Given the description of an element on the screen output the (x, y) to click on. 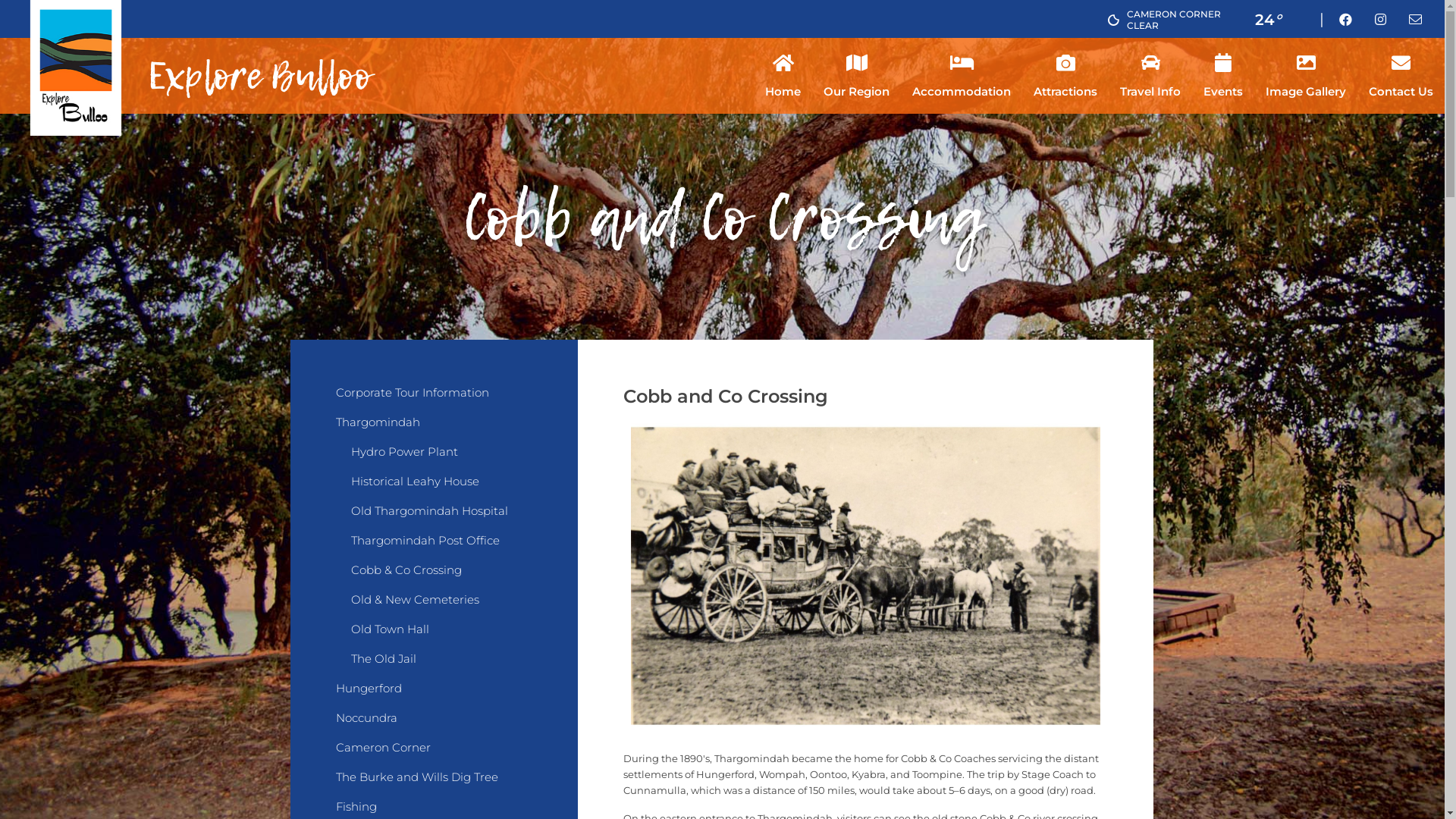
Old Town Hall Element type: text (441, 636)
Hungerford Element type: text (433, 695)
Thargomindah Post Office Element type: text (441, 547)
The Old Jail Element type: text (441, 665)
Image Gallery Element type: text (1305, 75)
Old Thargomindah Hospital Element type: text (441, 518)
Attractions Element type: text (1065, 75)
Accommodation Element type: text (961, 75)
Historical Leahy House Element type: text (441, 488)
Explore Bulloo Element type: text (192, 67)
Corporate Tour Information Element type: text (433, 399)
Old & New Cemeteries Element type: text (441, 606)
Our Region Element type: text (856, 75)
Contact Us Element type: text (1400, 75)
Thargomindah Element type: text (433, 429)
The Burke and Wills Dig Tree Element type: text (433, 784)
Noccundra Element type: text (433, 725)
Travel Info Element type: text (1150, 75)
Cameron Corner Element type: text (433, 754)
Cobb & Co Crossing Element type: text (441, 577)
Events Element type: text (1223, 75)
Home Element type: text (782, 75)
Hydro Power Plant Element type: text (441, 458)
